Given the description of an element on the screen output the (x, y) to click on. 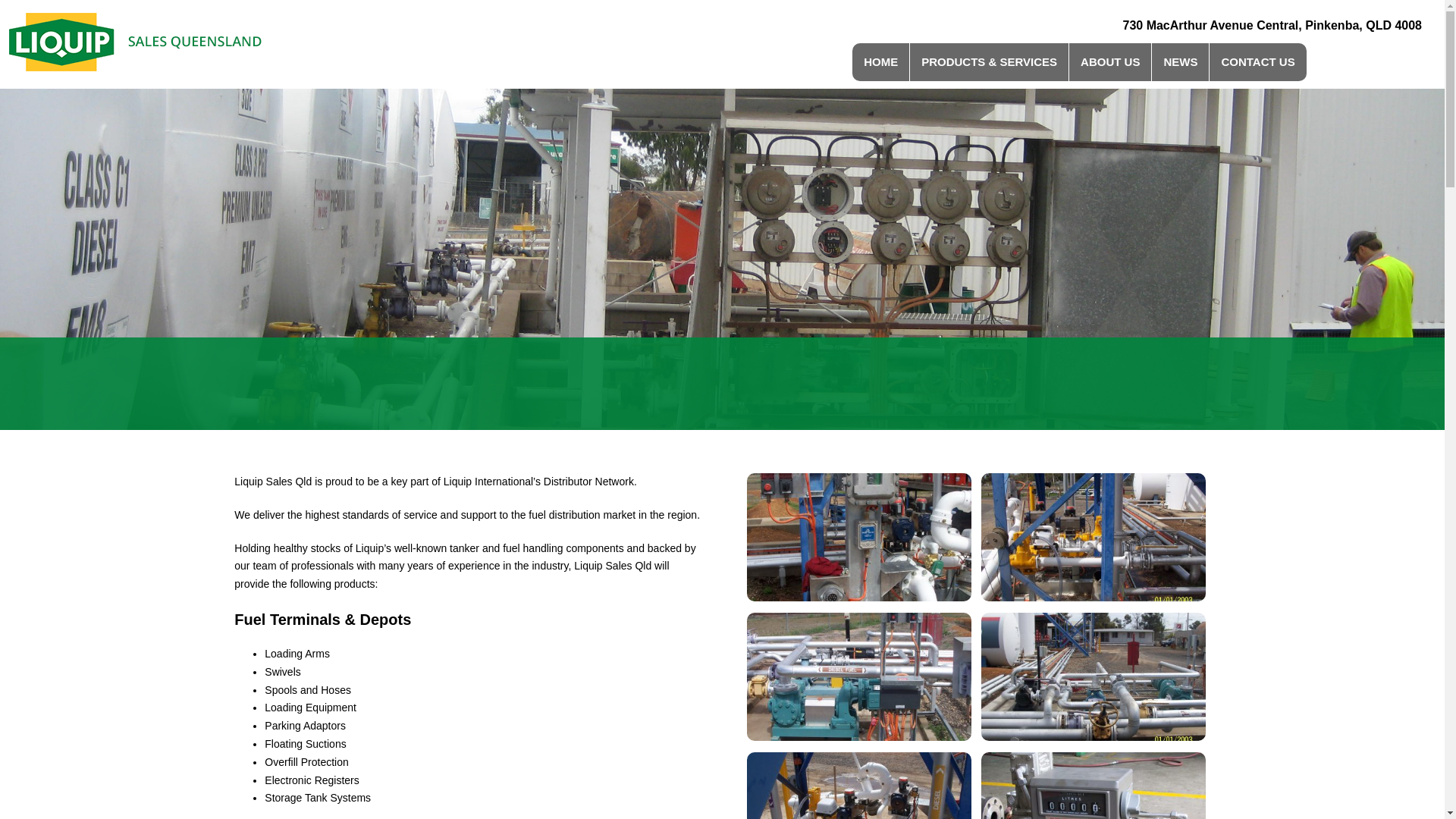
CONTACT US (1257, 62)
NEWS (1180, 62)
HOME (880, 62)
ABOUT US (1109, 62)
